Given the description of an element on the screen output the (x, y) to click on. 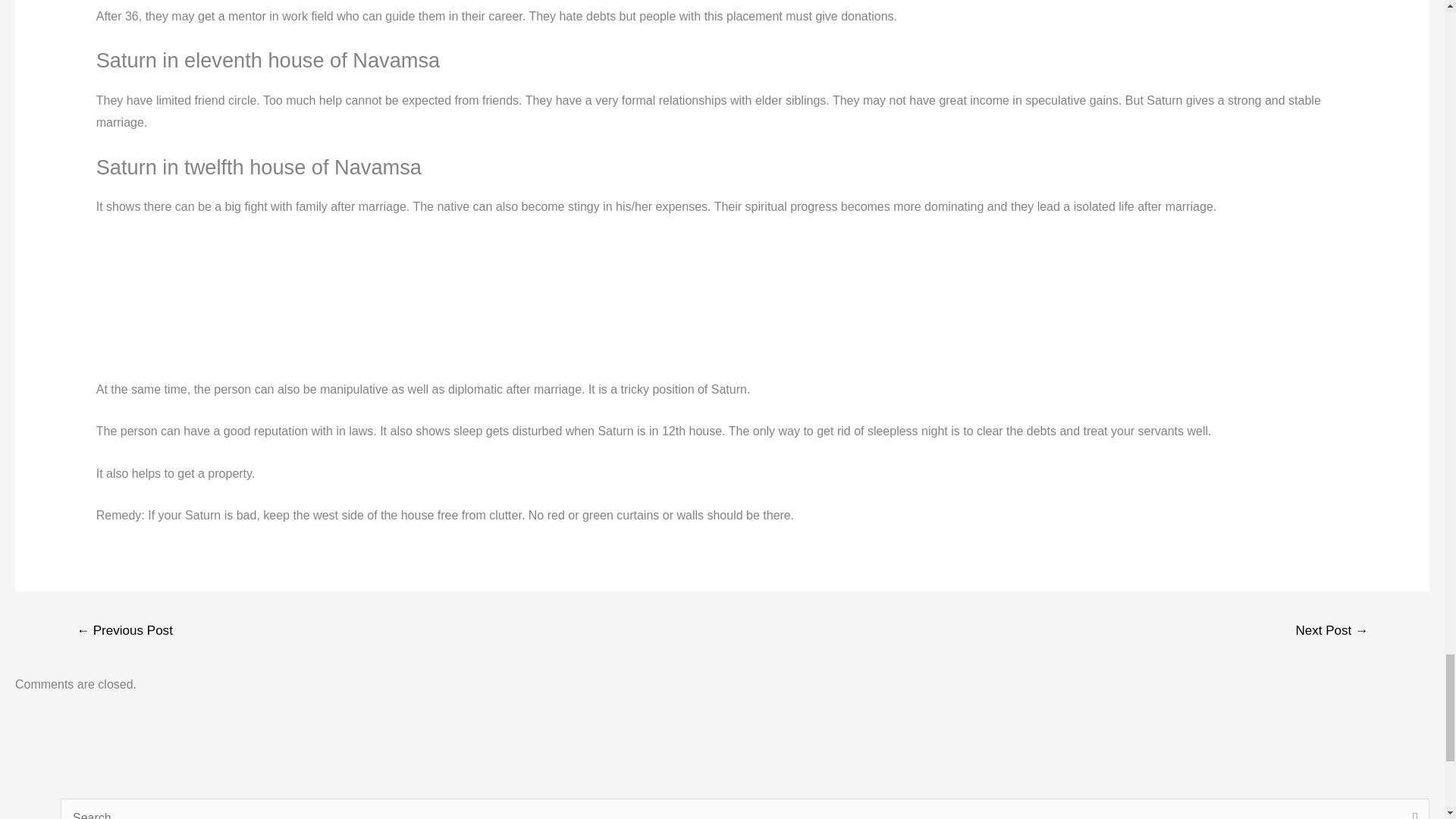
Search (1411, 808)
Search (1411, 808)
Search (1411, 808)
